Given the description of an element on the screen output the (x, y) to click on. 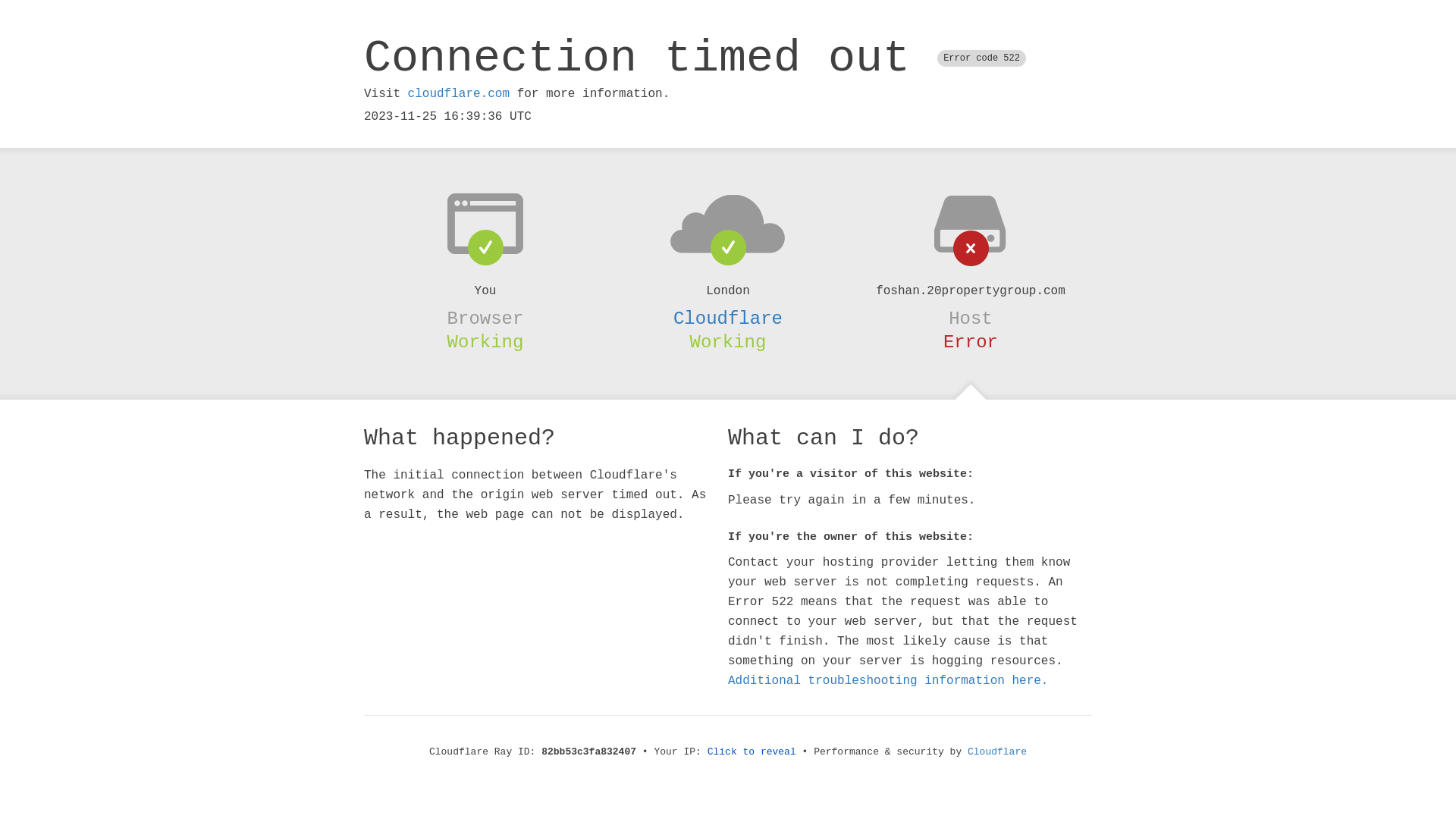
cloudflare.com Element type: text (458, 93)
Additional troubleshooting information here. Element type: text (888, 680)
Cloudflare Element type: text (727, 318)
Cloudflare Element type: text (996, 751)
Click to reveal Element type: text (751, 751)
